Given the description of an element on the screen output the (x, y) to click on. 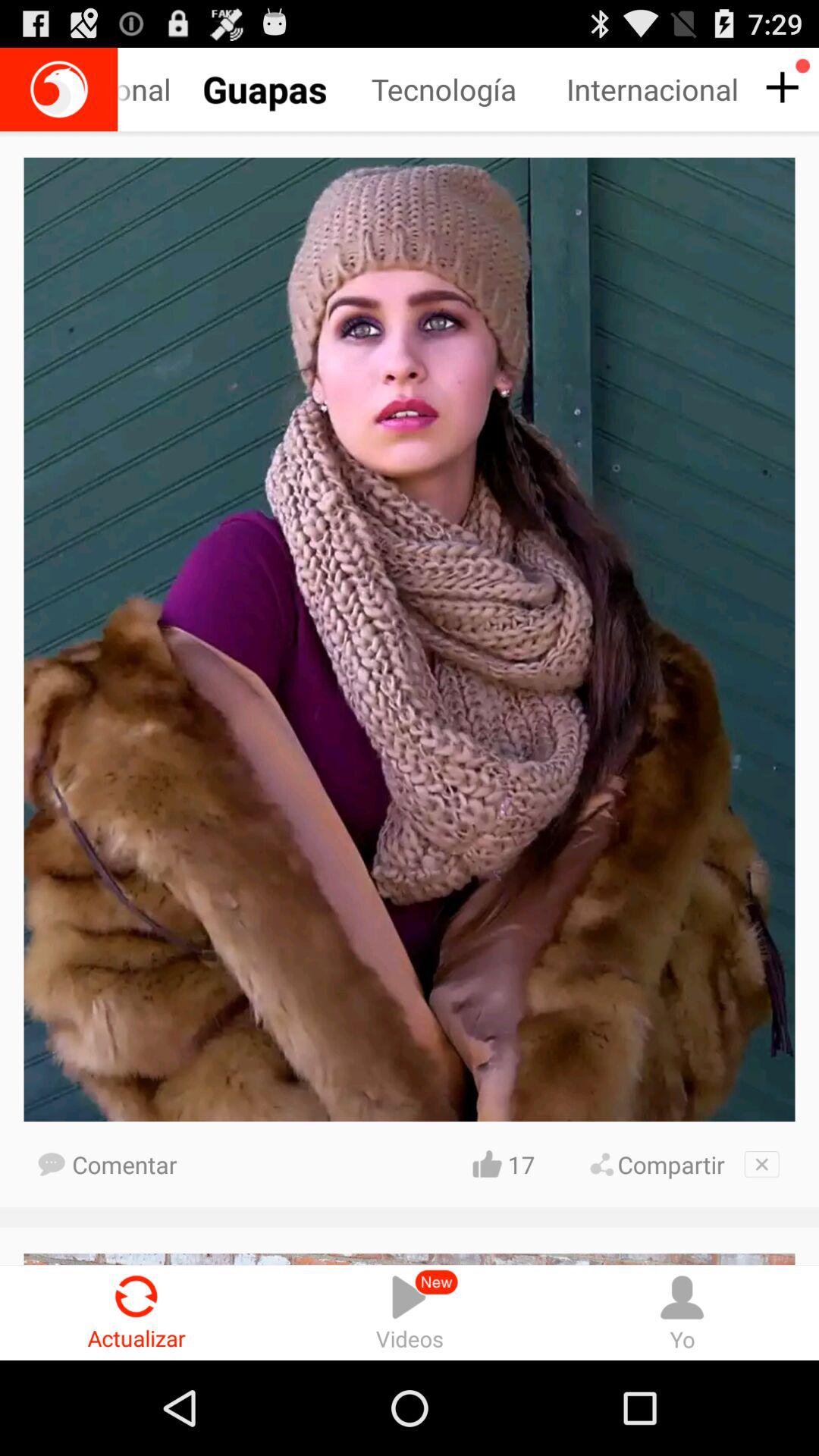
click the image left to yo (409, 1312)
click the plus icon below 729 (779, 88)
click on internacional right next to tecnologia (655, 89)
